Given the description of an element on the screen output the (x, y) to click on. 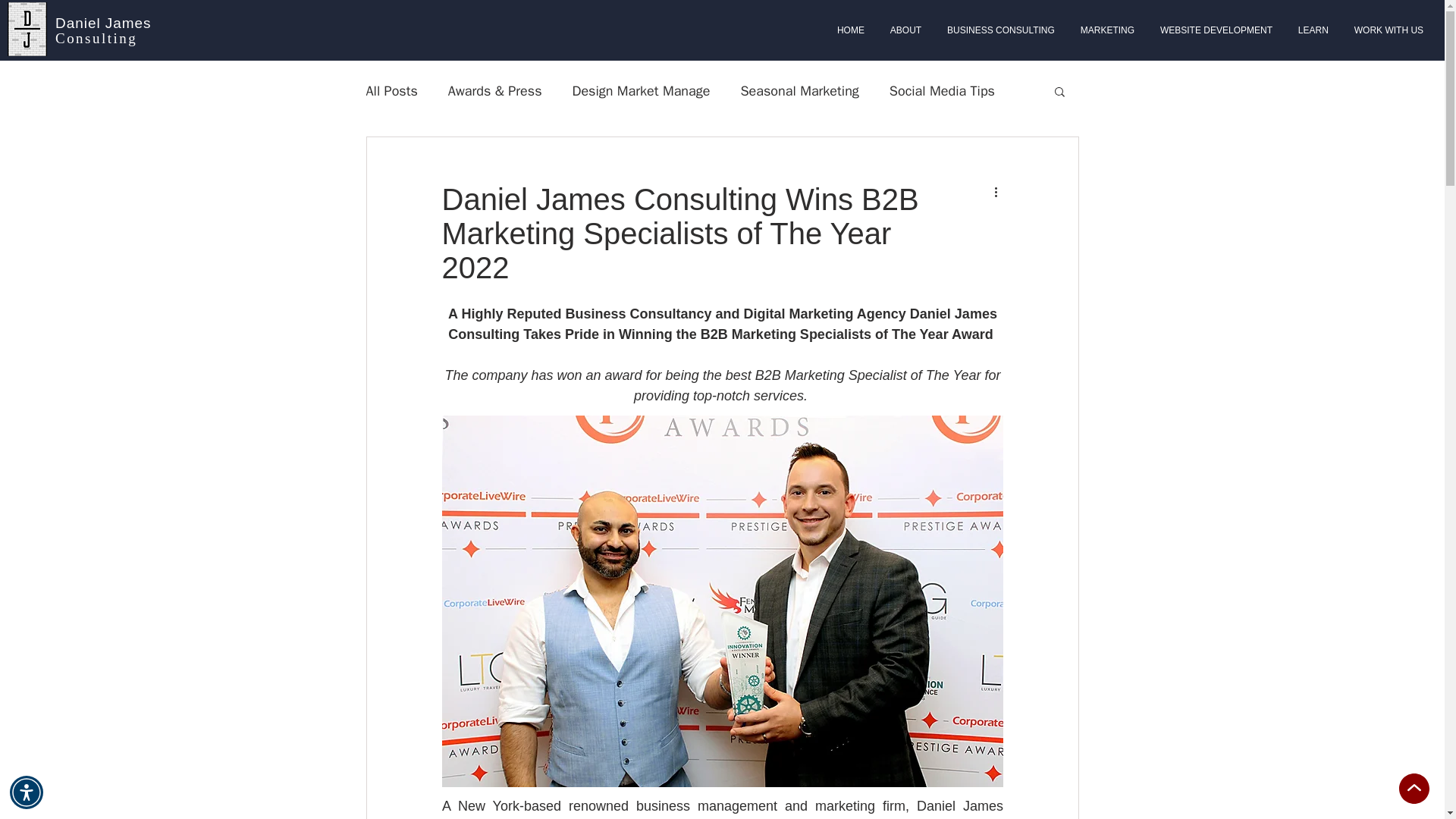
HOME (851, 30)
Accessibility Menu (26, 792)
All Posts (390, 90)
LEARN (1313, 30)
Consulting (95, 37)
Daniel James (103, 23)
